Given the description of an element on the screen output the (x, y) to click on. 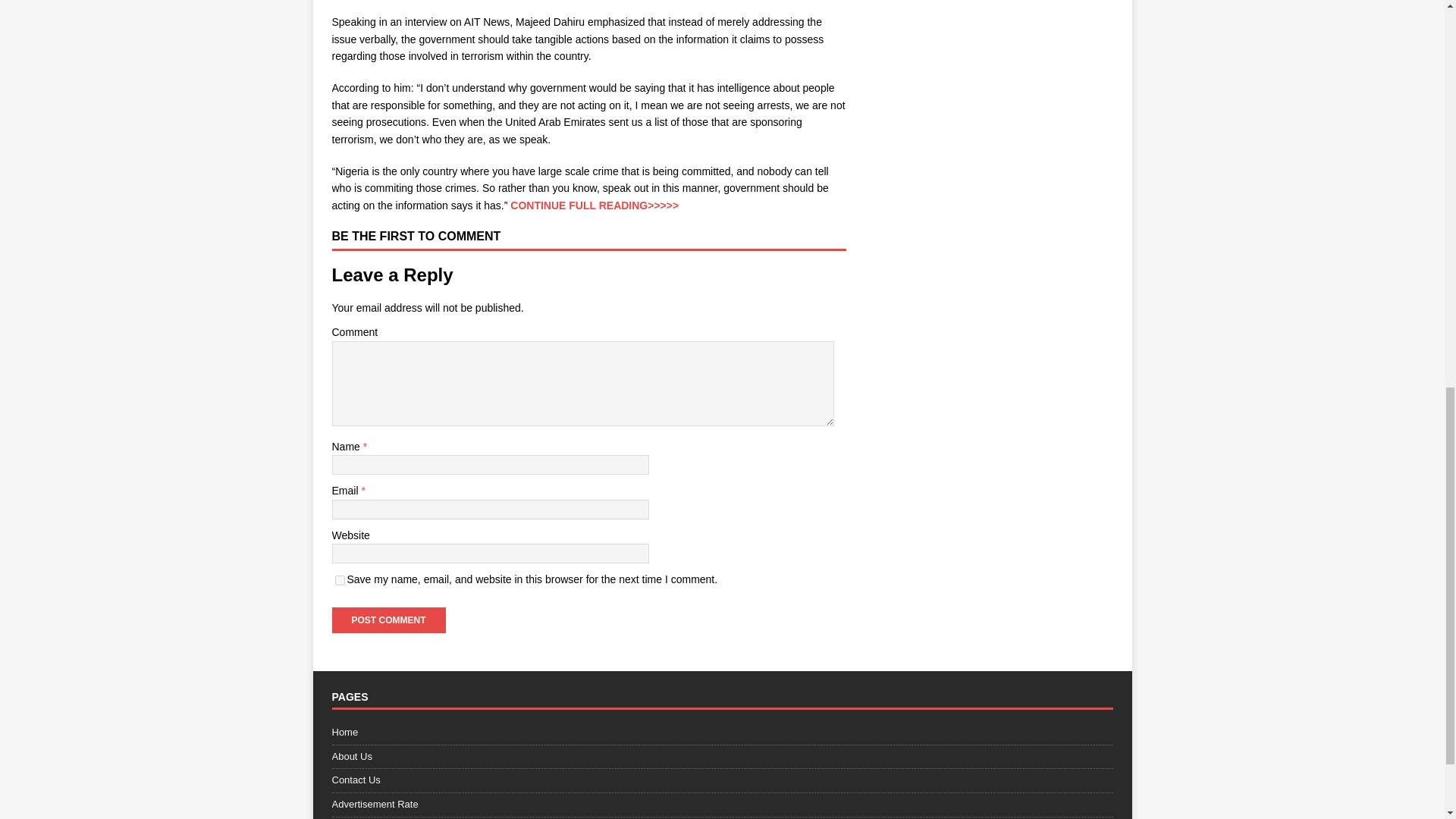
Advertisement Rate (722, 804)
yes (339, 580)
Post Comment (388, 620)
Home (722, 734)
About Us (722, 757)
Post Comment (388, 620)
Contact Us (722, 780)
